Given the description of an element on the screen output the (x, y) to click on. 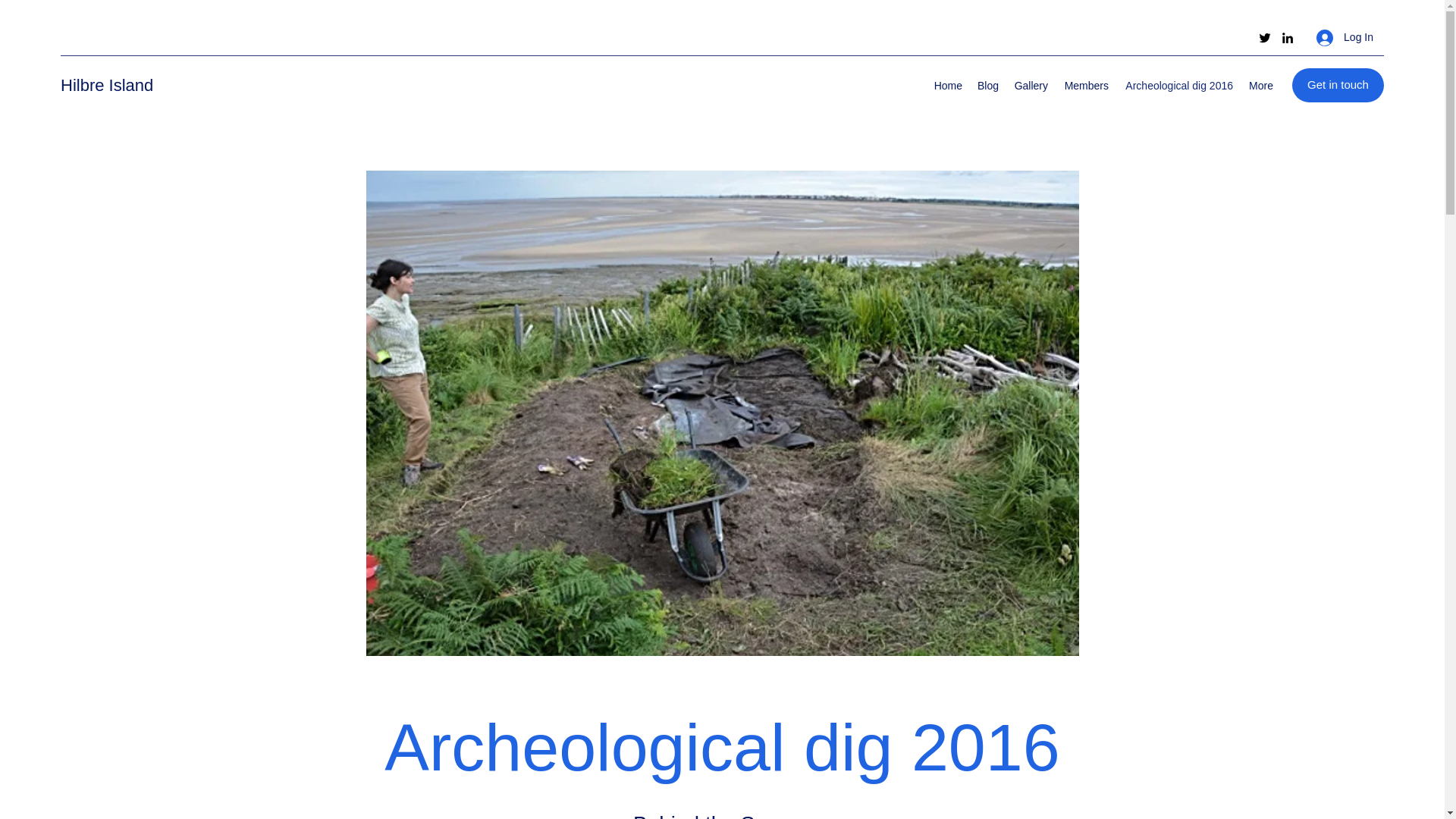
Blog (987, 85)
Log In (1345, 37)
Home (947, 85)
Get in touch (1338, 84)
Gallery (1030, 85)
Members (1085, 85)
Hilbre Island (106, 85)
Archeological dig 2016 (1178, 85)
